Given the description of an element on the screen output the (x, y) to click on. 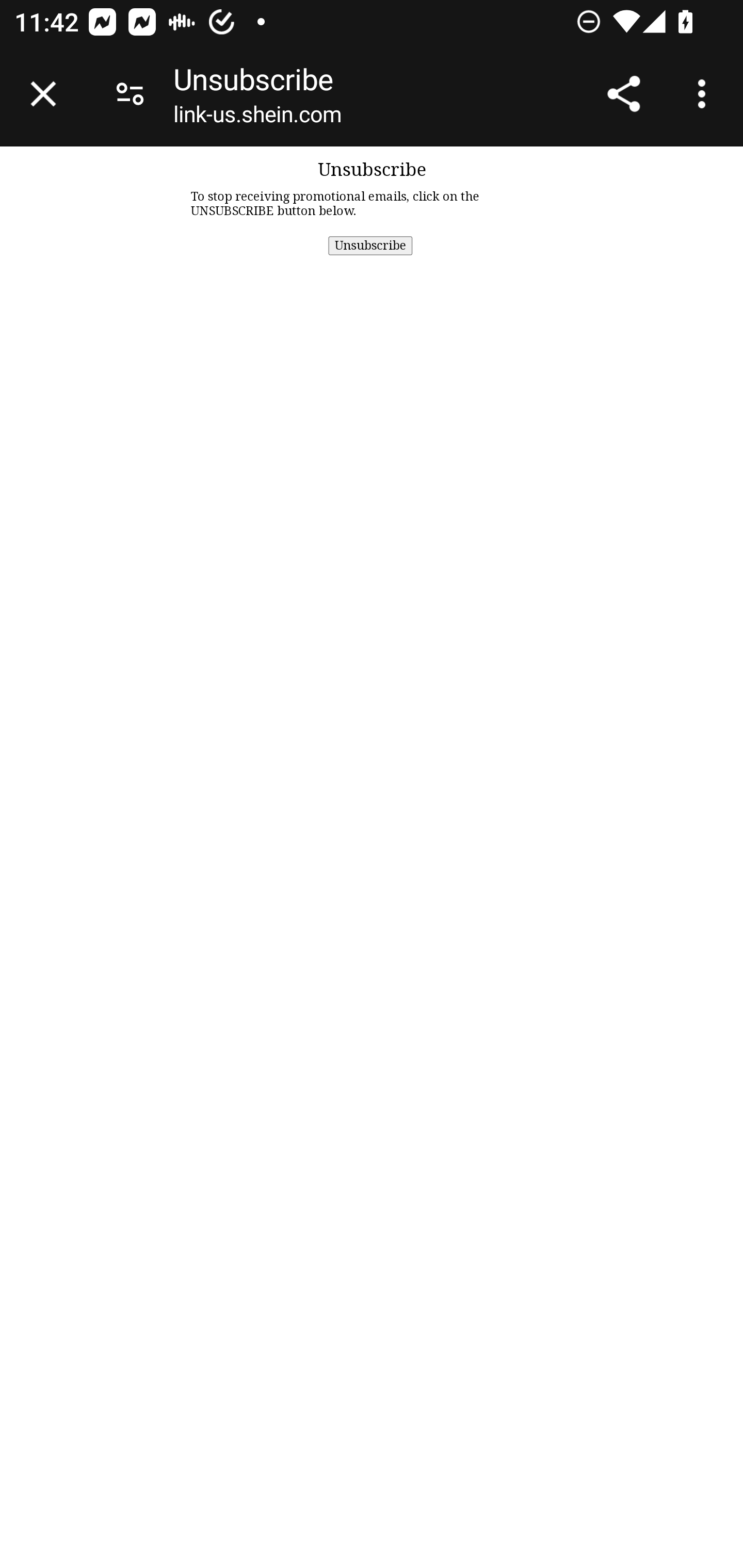
Close tab (43, 93)
Share link address (623, 93)
Customize and control Google Chrome (705, 93)
Connection is secure (129, 93)
link-us.shein.com (257, 117)
Unsubscribe (370, 244)
